Given the description of an element on the screen output the (x, y) to click on. 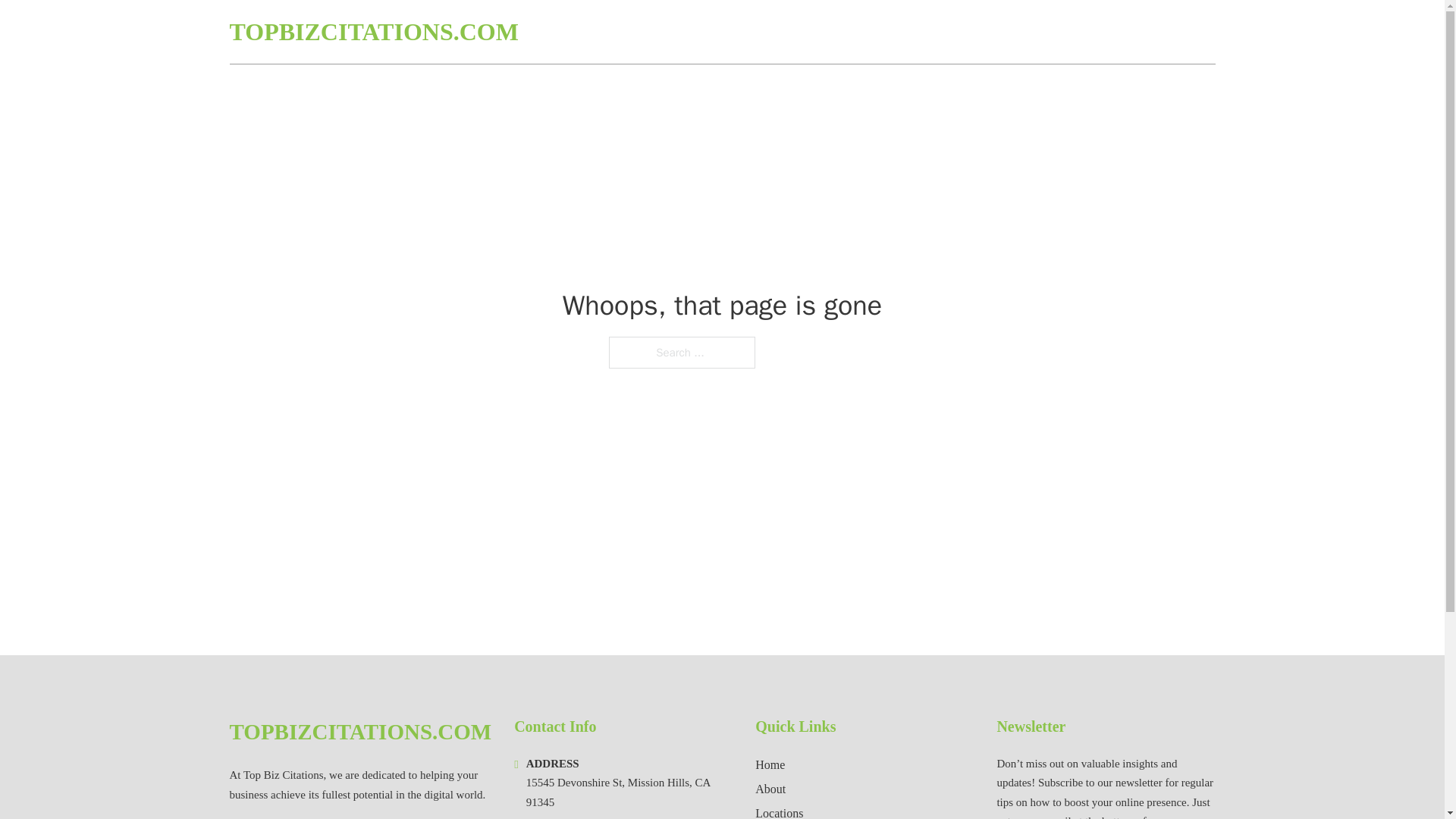
HOME (1032, 31)
TOPBIZCITATIONS.COM (373, 31)
TOPBIZCITATIONS.COM (360, 732)
LOCATIONS (1105, 31)
About (770, 788)
Home (769, 764)
Locations (779, 811)
